Given the description of an element on the screen output the (x, y) to click on. 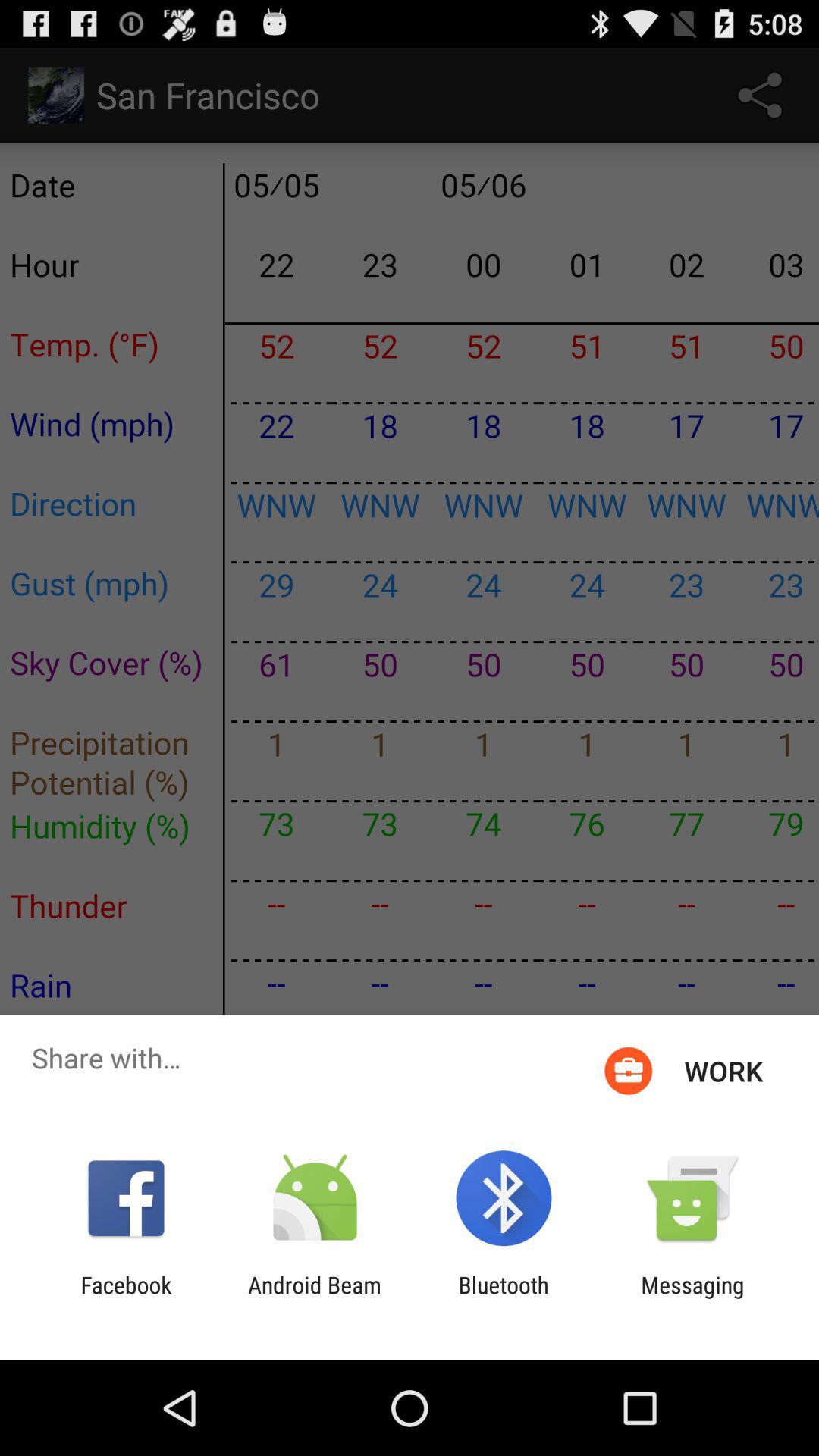
tap android beam icon (314, 1298)
